Given the description of an element on the screen output the (x, y) to click on. 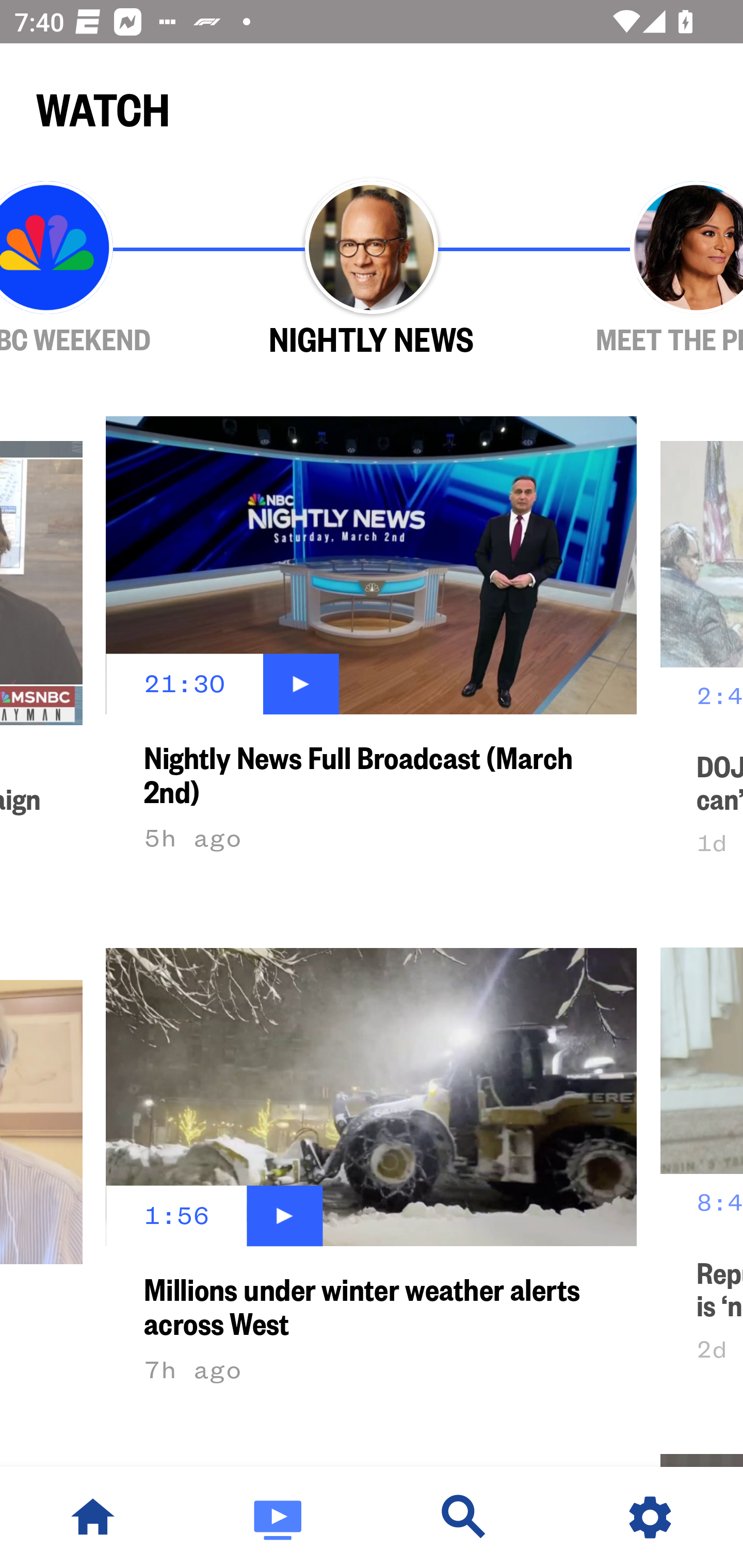
MSNBC WEEKEND (104, 268)
NIGHTLY NEWS (371, 268)
MEET THE PRESS (638, 268)
NBC News Home (92, 1517)
Discover (464, 1517)
Settings (650, 1517)
